Given the description of an element on the screen output the (x, y) to click on. 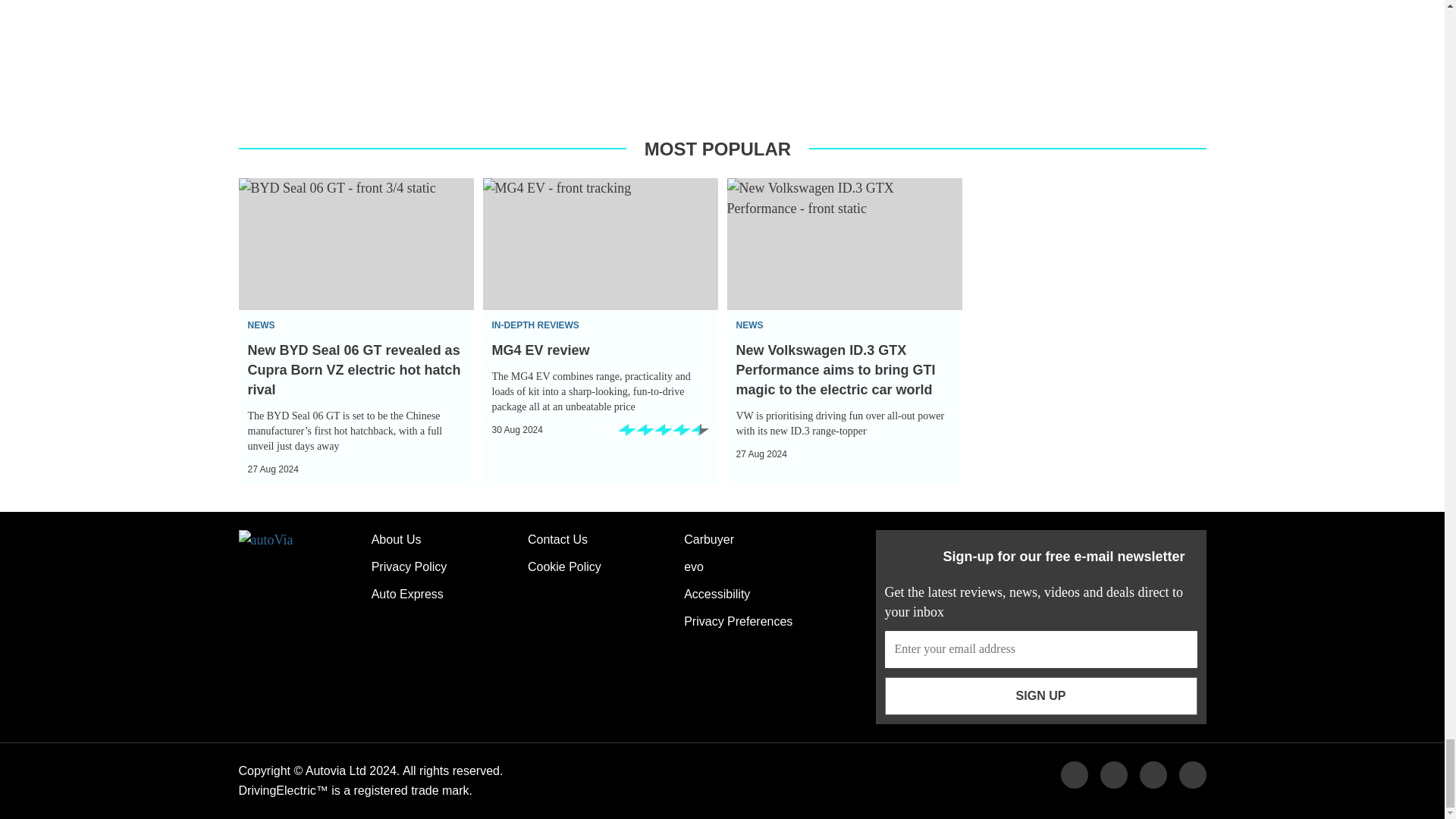
Subscribe (1039, 695)
4.5 Stars (662, 435)
Subscribe (1039, 648)
